Given the description of an element on the screen output the (x, y) to click on. 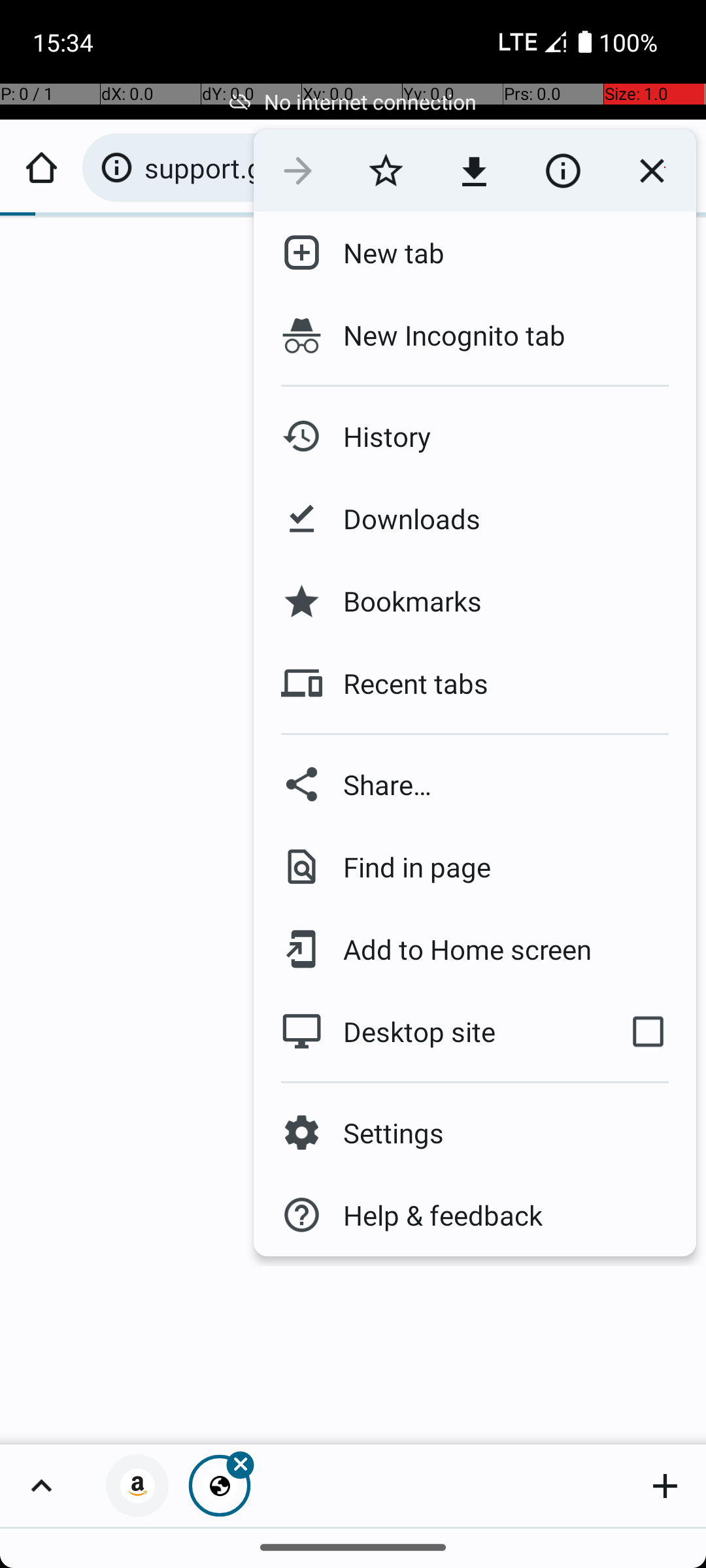
Forward Element type: android.widget.ImageButton (297, 170)
Bookmark Element type: android.widget.ImageButton (385, 170)
Page info Element type: android.widget.ImageButton (562, 170)
Stop refreshing Element type: android.widget.ImageButton (651, 170)
New Incognito tab Element type: android.widget.TextView (474, 335)
Bookmarks Element type: android.widget.TextView (401, 600)
Recent tabs Element type: android.widget.TextView (405, 683)
Share… Element type: android.widget.TextView (474, 784)
Find in page Element type: android.widget.TextView (406, 866)
Add to Home screen Element type: android.widget.TextView (457, 949)
Desktop site Element type: android.widget.TextView (426, 1031)
